Given the description of an element on the screen output the (x, y) to click on. 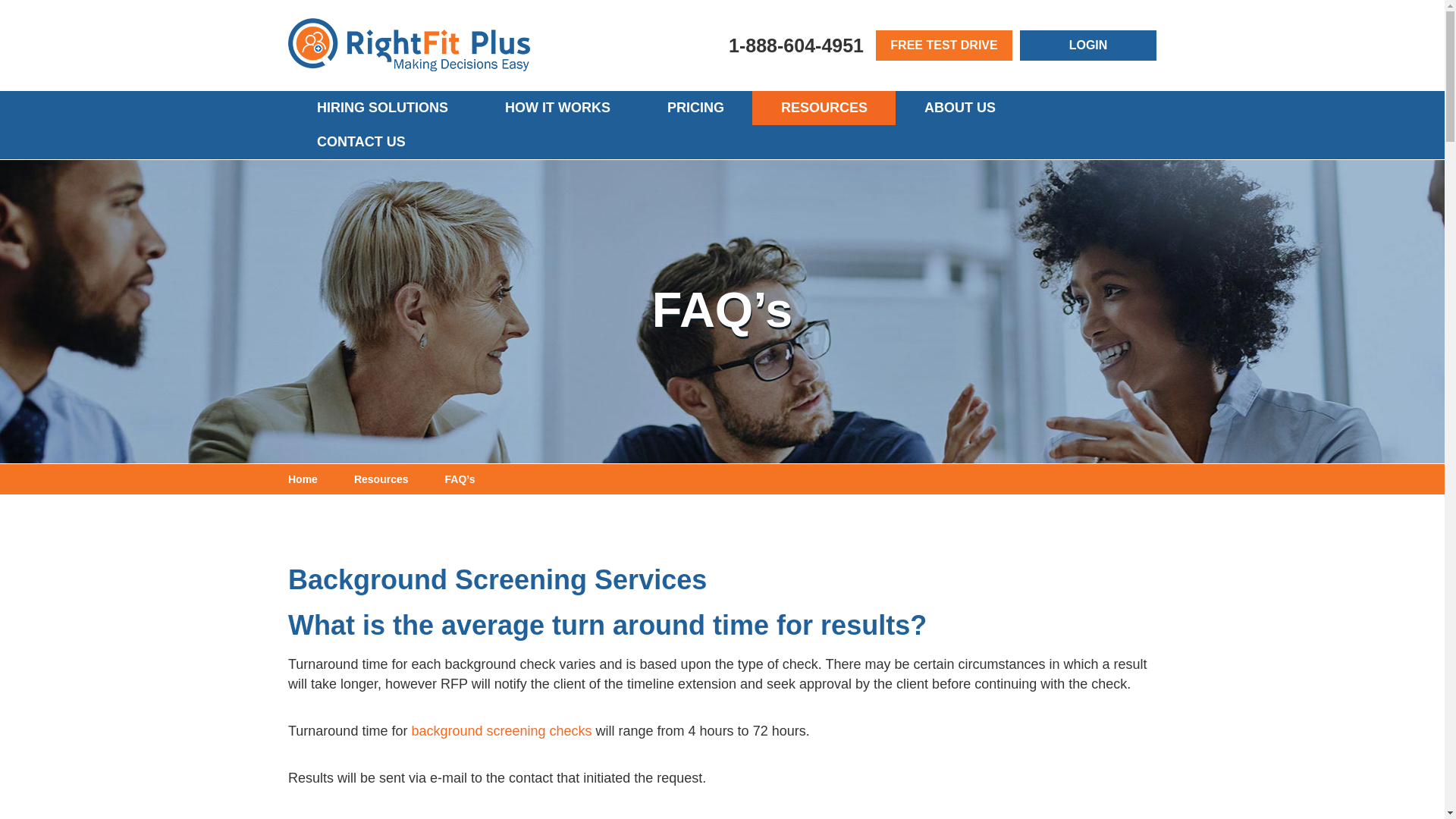
Go to RightFit Plus. (302, 479)
Home (302, 479)
FREE TEST DRIVE (943, 45)
Go to Resources. (381, 479)
LOGIN (1088, 45)
CONTACT US (360, 141)
HOW IT WORKS (557, 107)
1-888-604-4951 (796, 45)
ABOUT US (959, 107)
HIRING SOLUTIONS (382, 107)
RESOURCES (823, 107)
RightFit Plus (408, 44)
Resources (381, 479)
PRICING (695, 107)
background screening checks (500, 730)
